Given the description of an element on the screen output the (x, y) to click on. 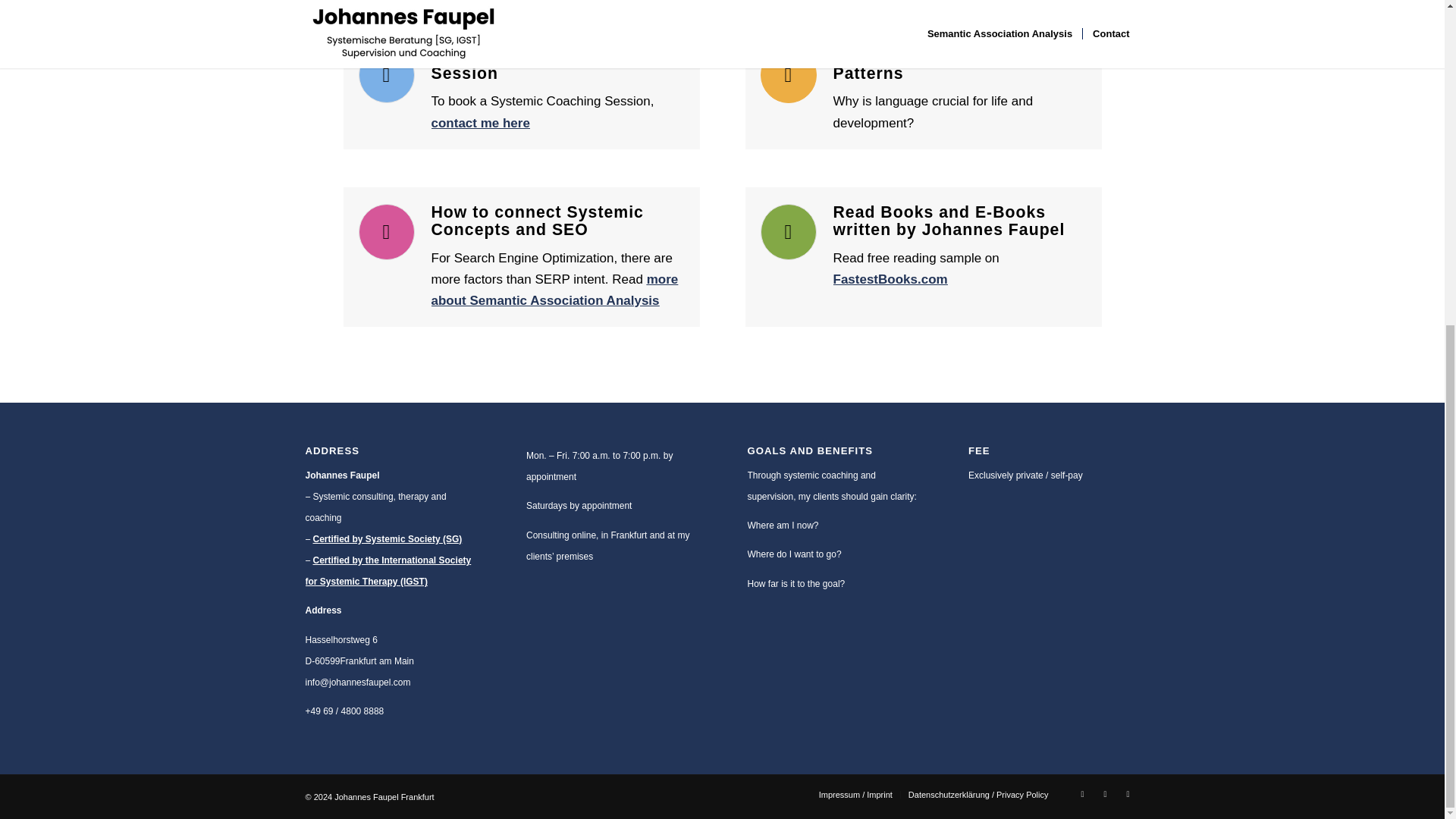
FastestBooks.com (889, 278)
LinkedIn (1081, 793)
Self-Help Books and e-books written by Johannes Faupel (889, 278)
Twitter (1104, 793)
Facebook (1127, 793)
more about Semantic Association Analysis (554, 289)
contact me here (479, 123)
